Given the description of an element on the screen output the (x, y) to click on. 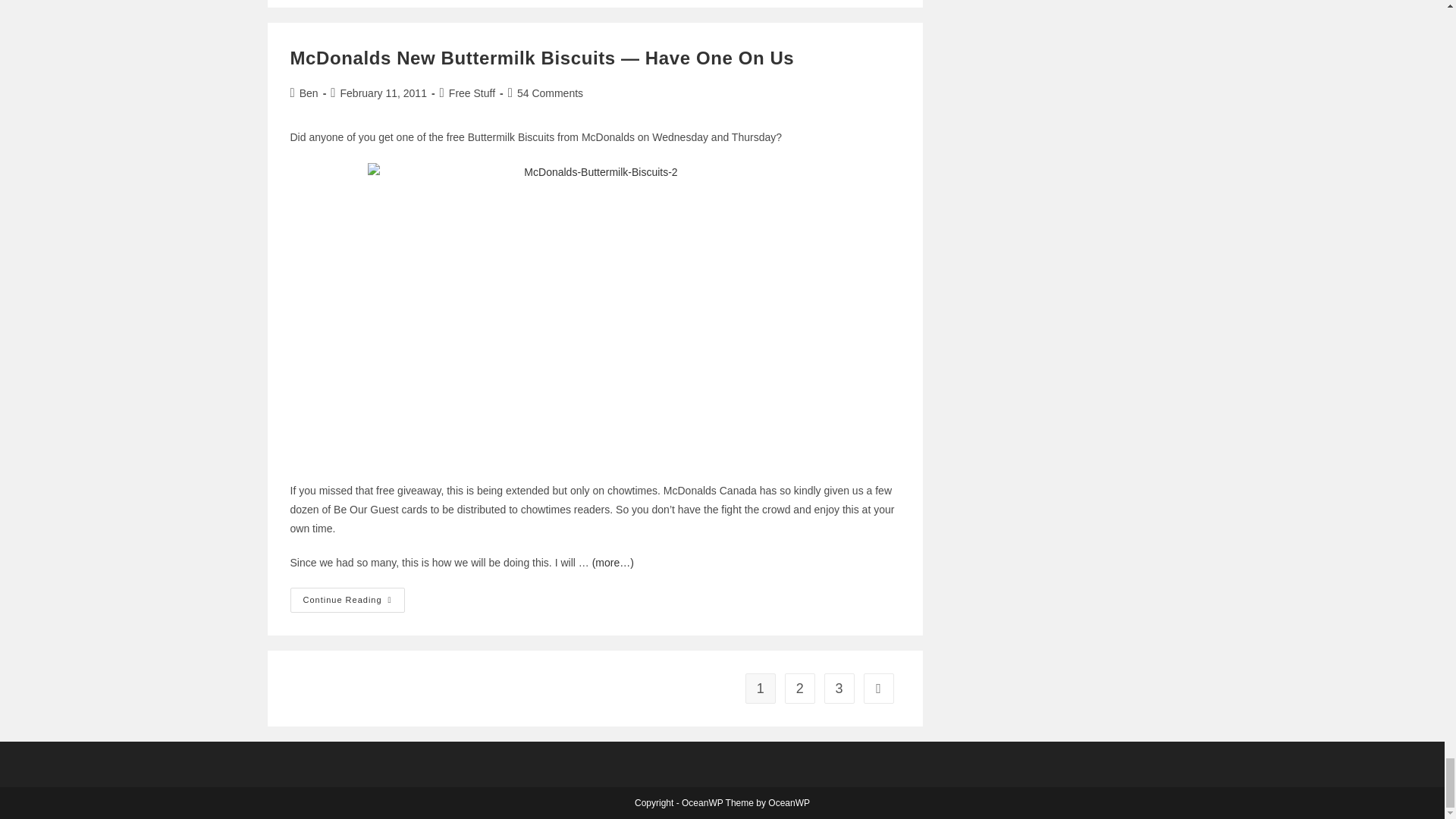
Posts by Ben (308, 92)
